Given the description of an element on the screen output the (x, y) to click on. 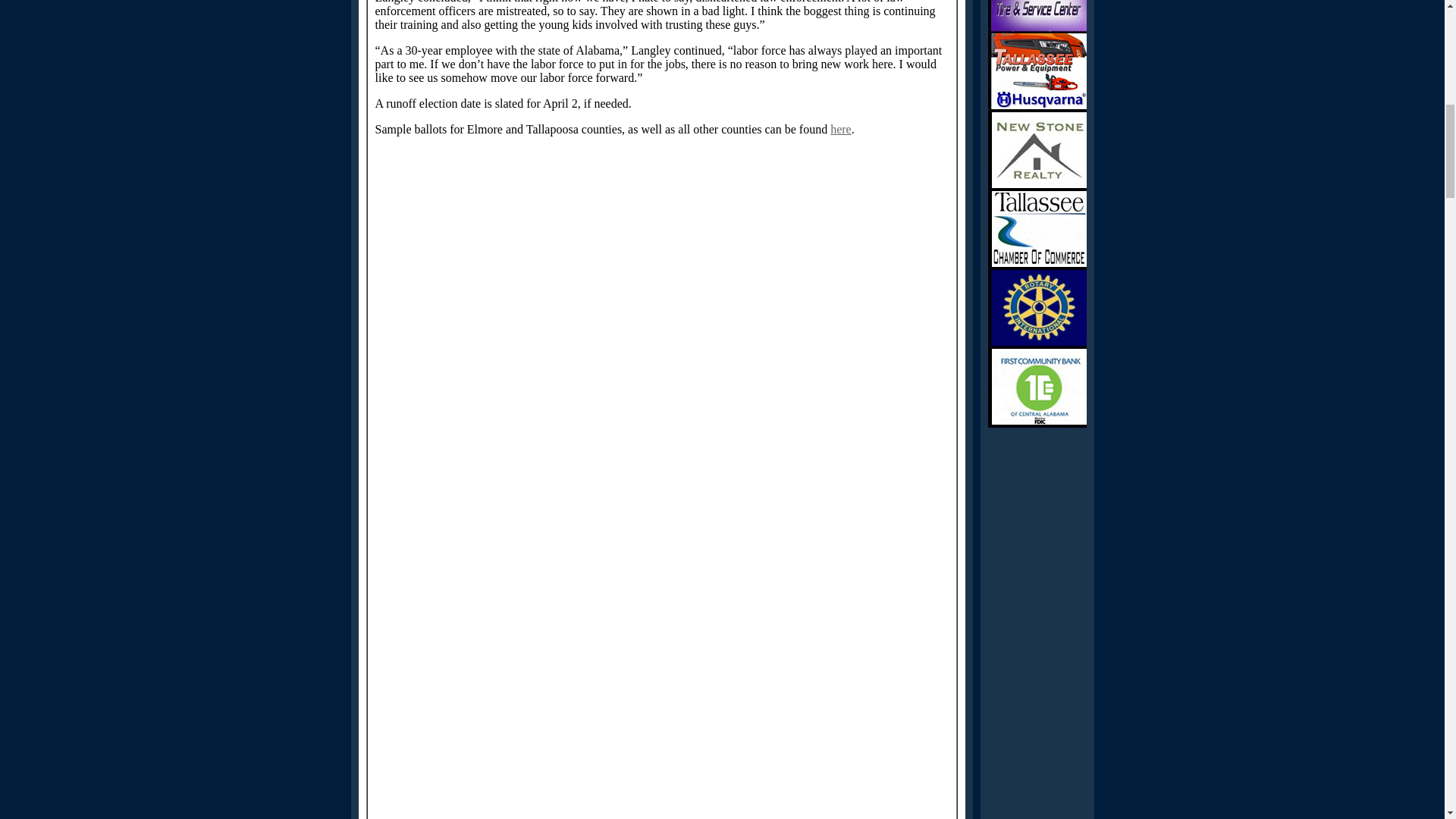
here (840, 128)
